Given the description of an element on the screen output the (x, y) to click on. 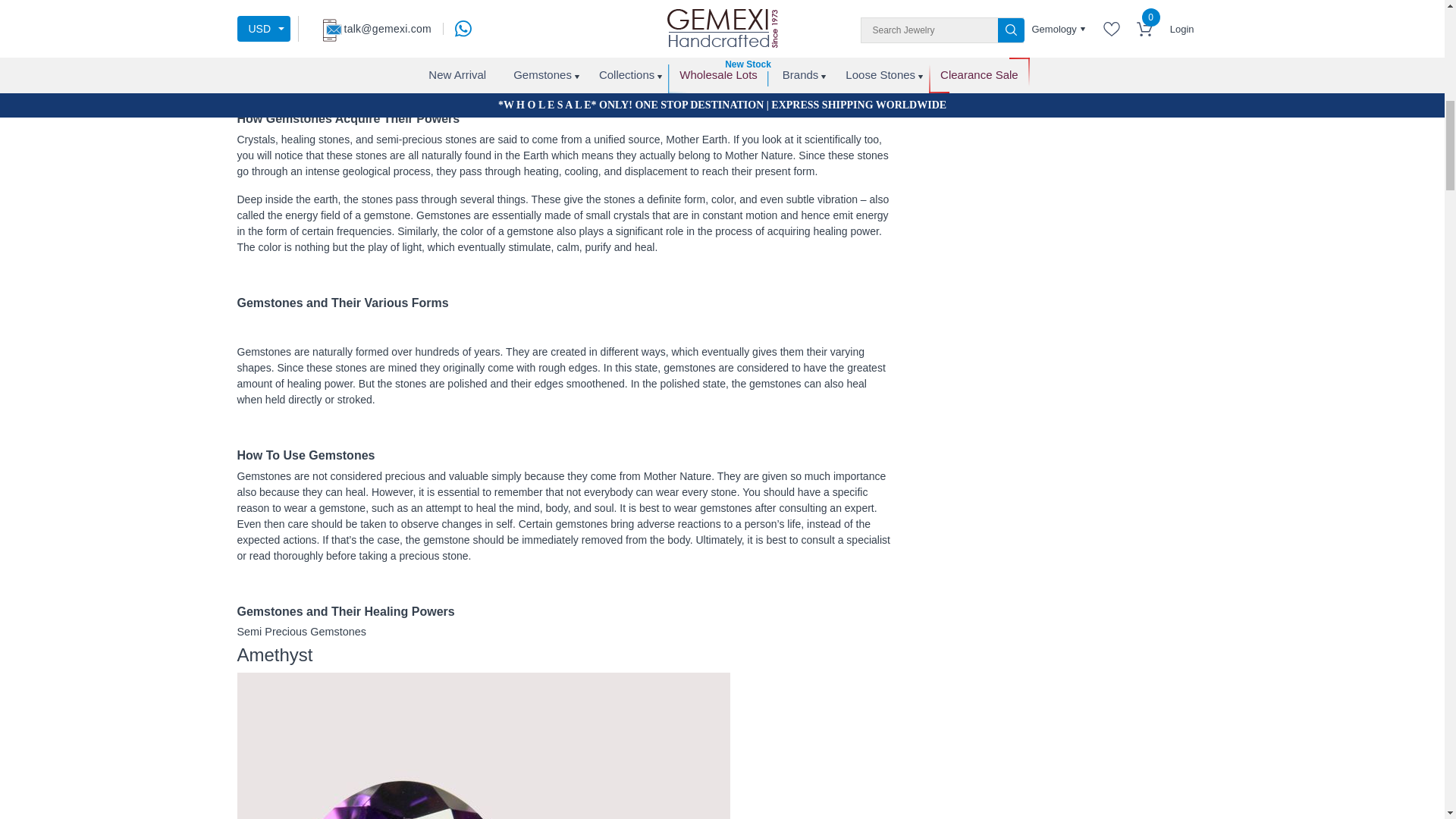
amethyst gemstone healing (482, 745)
